Given the description of an element on the screen output the (x, y) to click on. 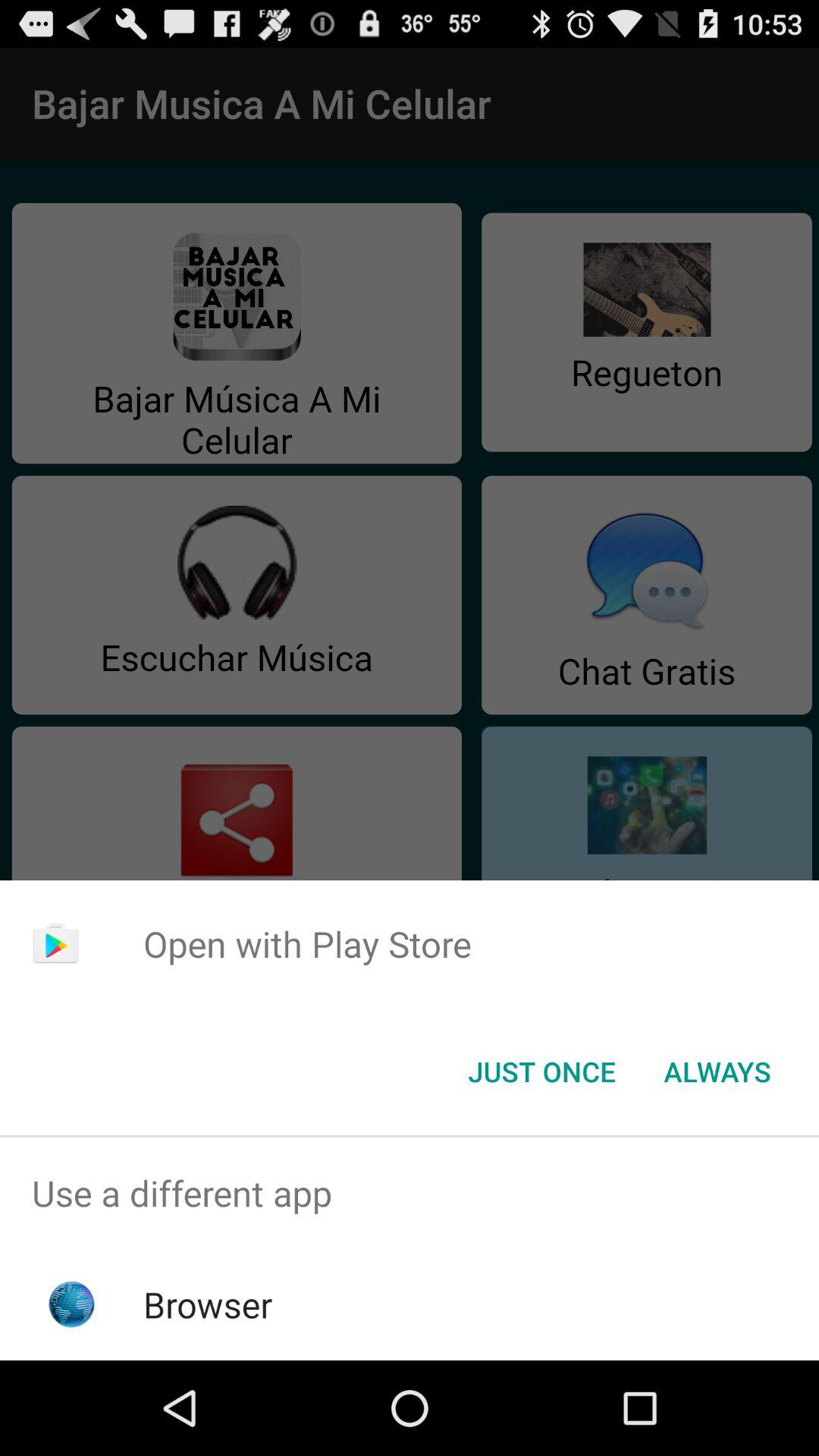
turn off item next to the always item (541, 1071)
